Given the description of an element on the screen output the (x, y) to click on. 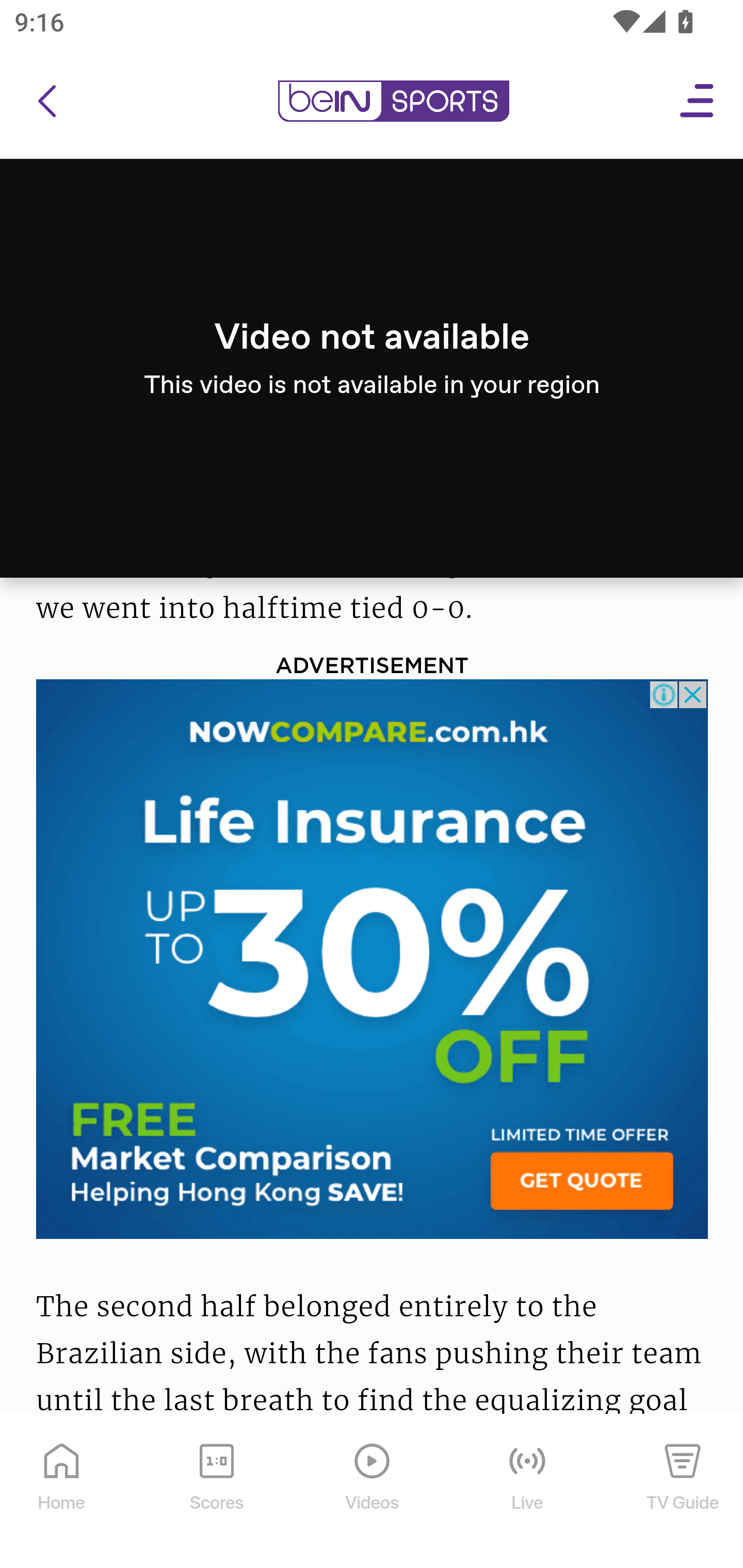
en-us?platform=mobile_android bein logo (392, 101)
icon back (46, 101)
Open Menu Icon (697, 101)
Home Home Icon Home (61, 1491)
Scores Scores Icon Scores (216, 1491)
Videos Videos Icon Videos (372, 1491)
TV Guide TV Guide Icon TV Guide (682, 1491)
